Given the description of an element on the screen output the (x, y) to click on. 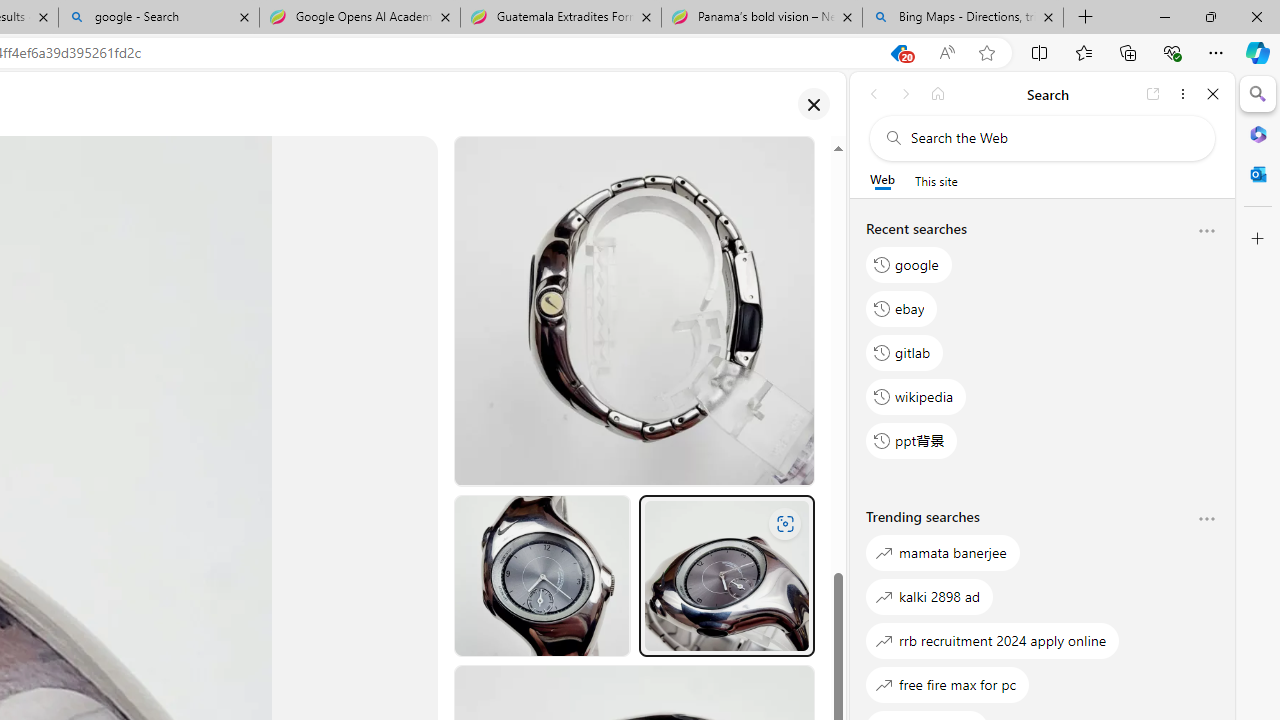
mamata banerjee (943, 552)
